Given the description of an element on the screen output the (x, y) to click on. 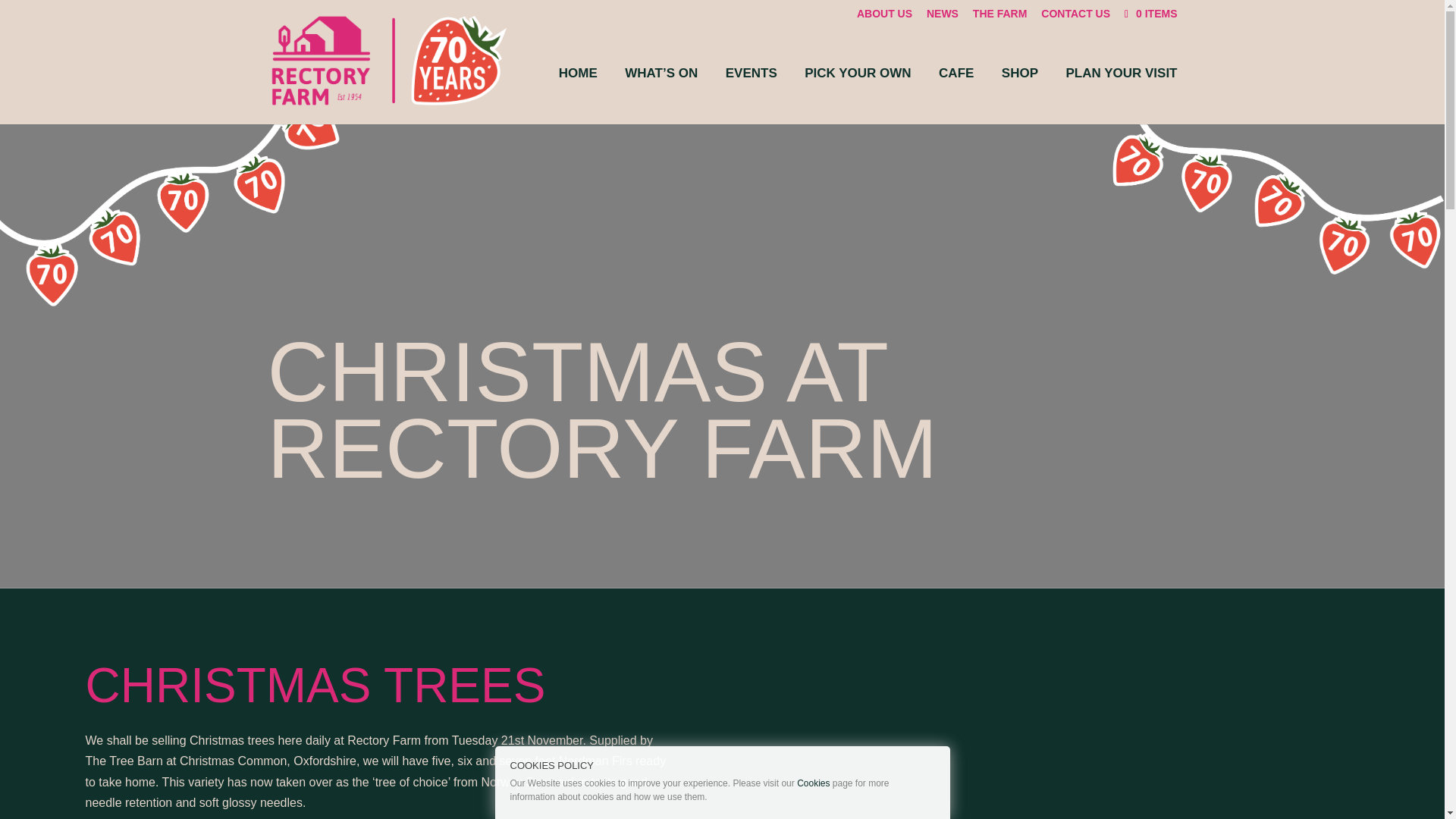
NEWS (942, 16)
PLAN YOUR VISIT (1120, 95)
ABOUT US (884, 16)
THE FARM (999, 16)
0 ITEMS (1148, 13)
EVENTS (751, 95)
CONTACT US (1075, 16)
PICK YOUR OWN (858, 95)
